Given the description of an element on the screen output the (x, y) to click on. 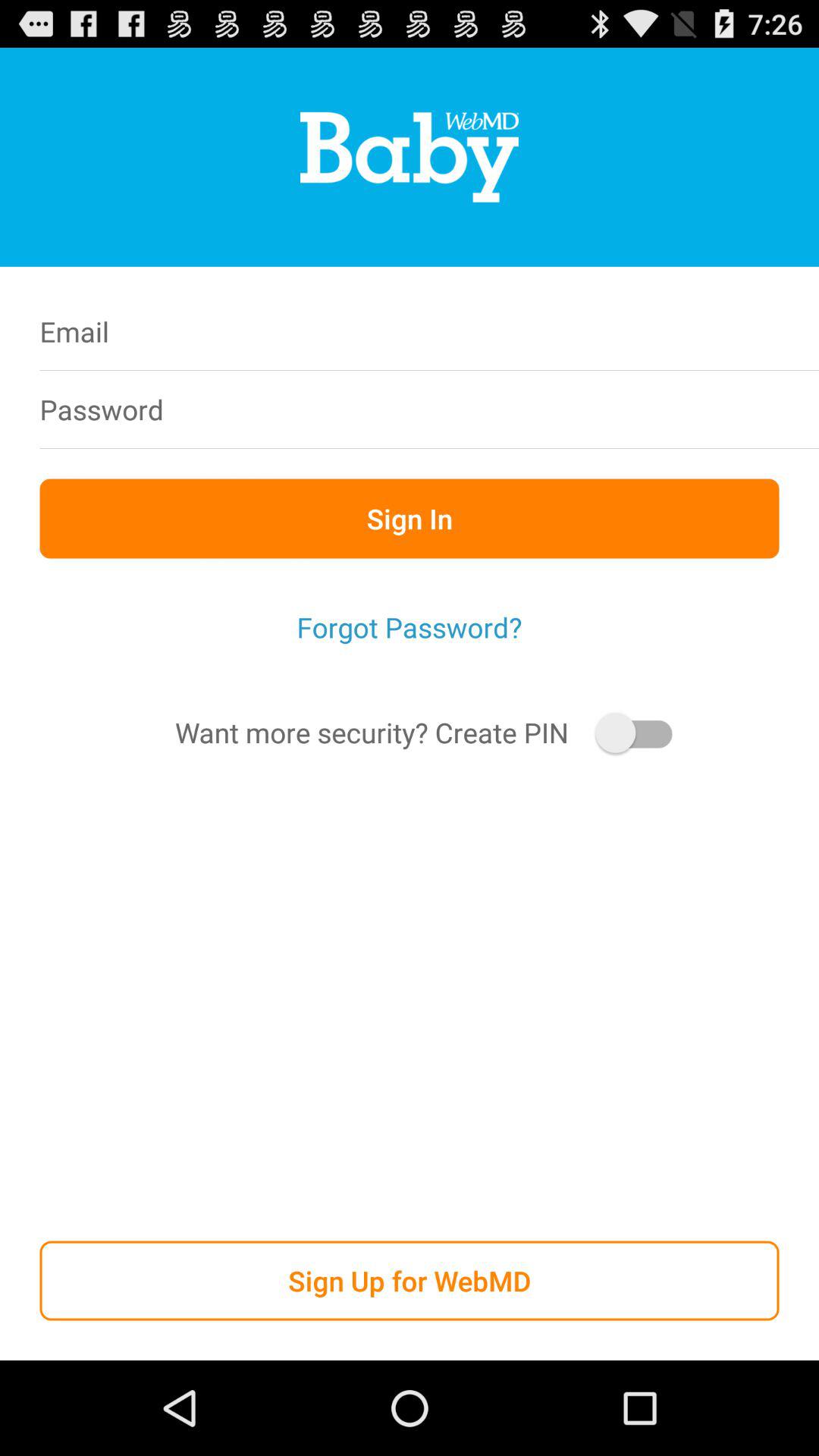
swipe to the forgot password? (409, 627)
